Given the description of an element on the screen output the (x, y) to click on. 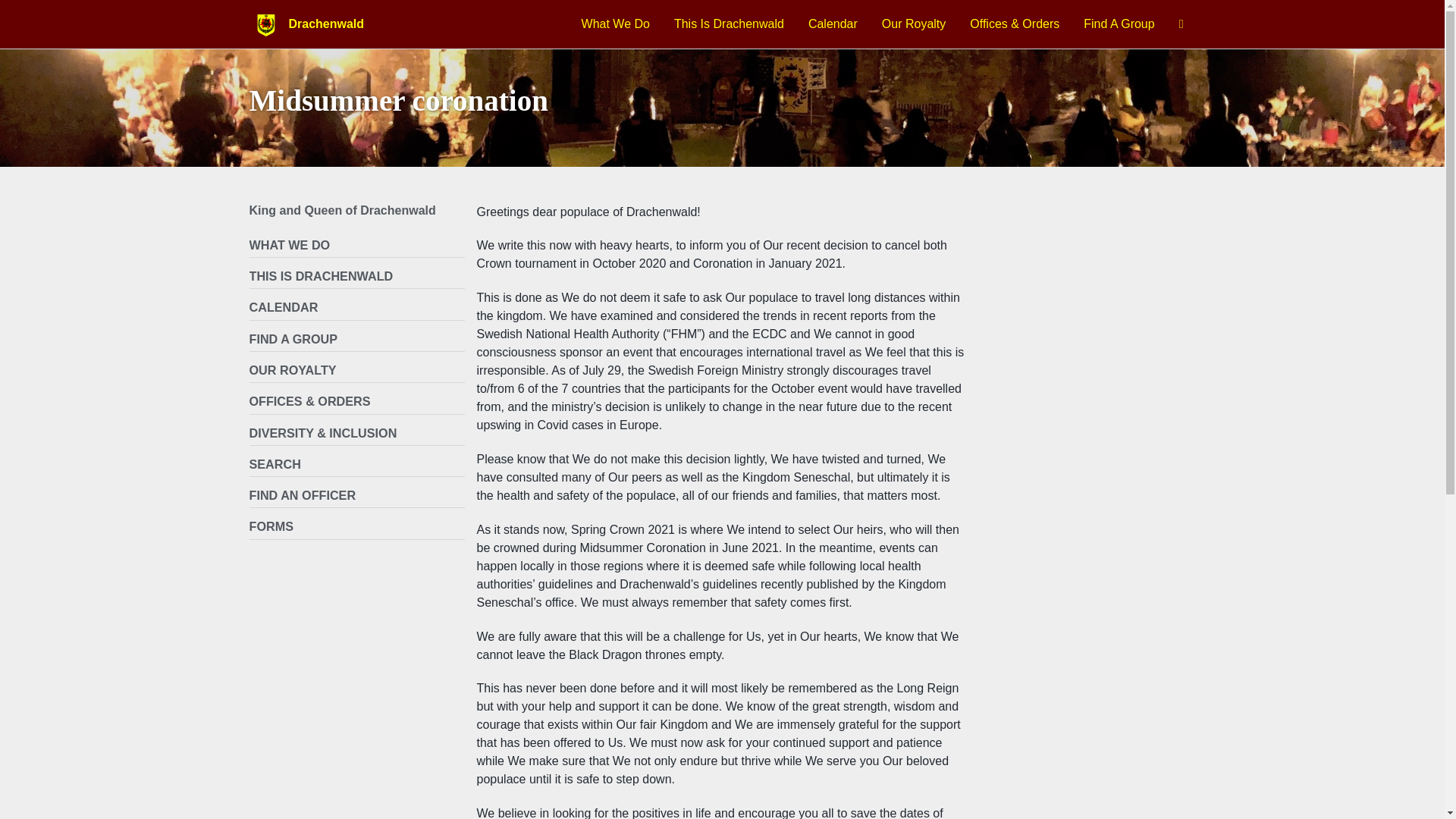
Find A Group (1118, 24)
Our Royalty (913, 24)
THIS IS DRACHENWALD (356, 276)
SEARCH (356, 464)
FORMS (356, 526)
This Is Drachenwald (729, 24)
What We Do (614, 24)
WHAT WE DO (356, 244)
Drachenwald (326, 24)
